Given the description of an element on the screen output the (x, y) to click on. 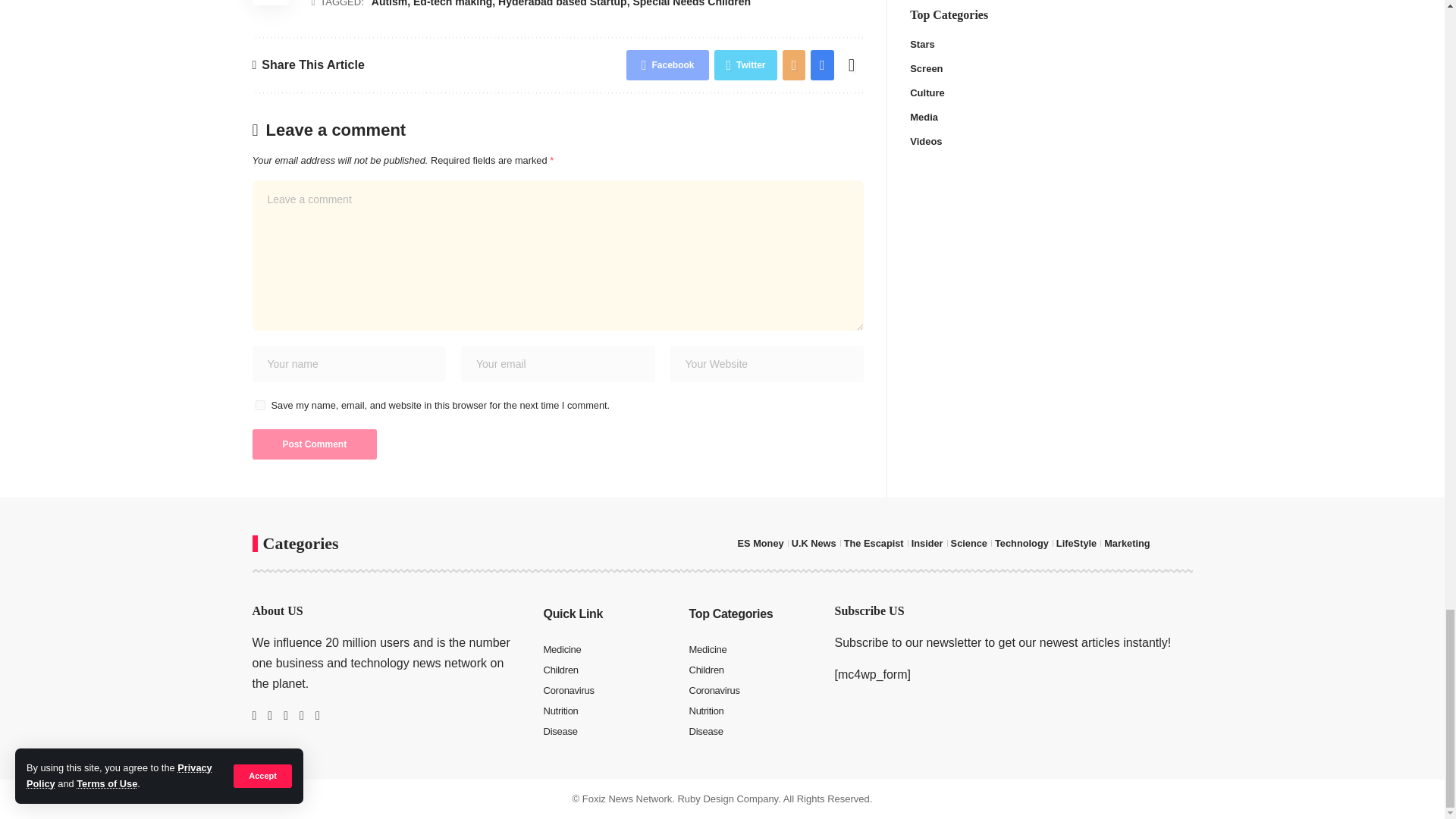
Post Comment (314, 444)
yes (259, 405)
